Given the description of an element on the screen output the (x, y) to click on. 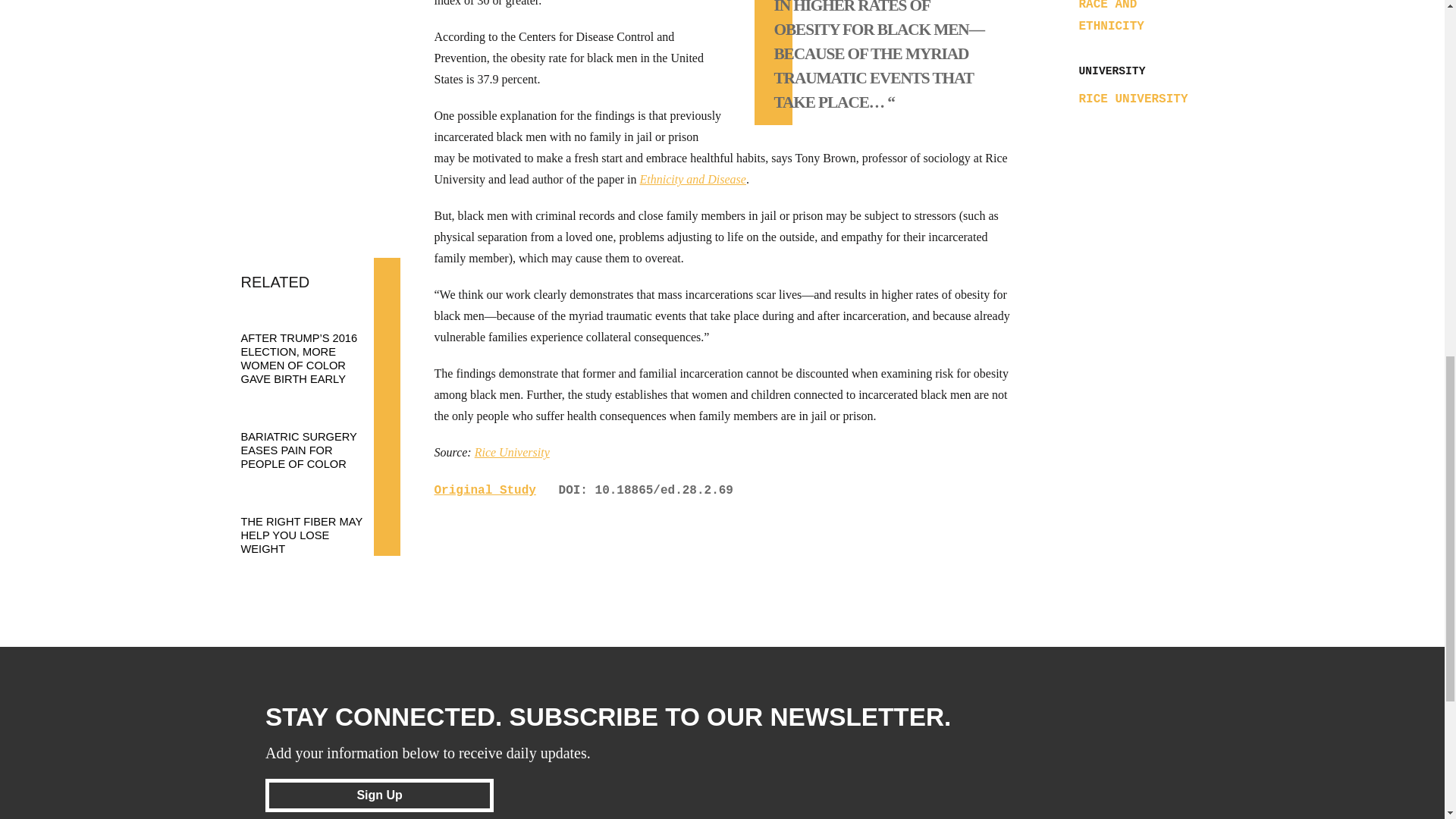
The right fiber may help you lose weight (313, 521)
RICE UNIVERSITY (1133, 98)
Ethnicity and Disease (692, 178)
Bariatric surgery eases pain for people of color (313, 435)
RACE AND ETHNICITY (1110, 16)
